Given the description of an element on the screen output the (x, y) to click on. 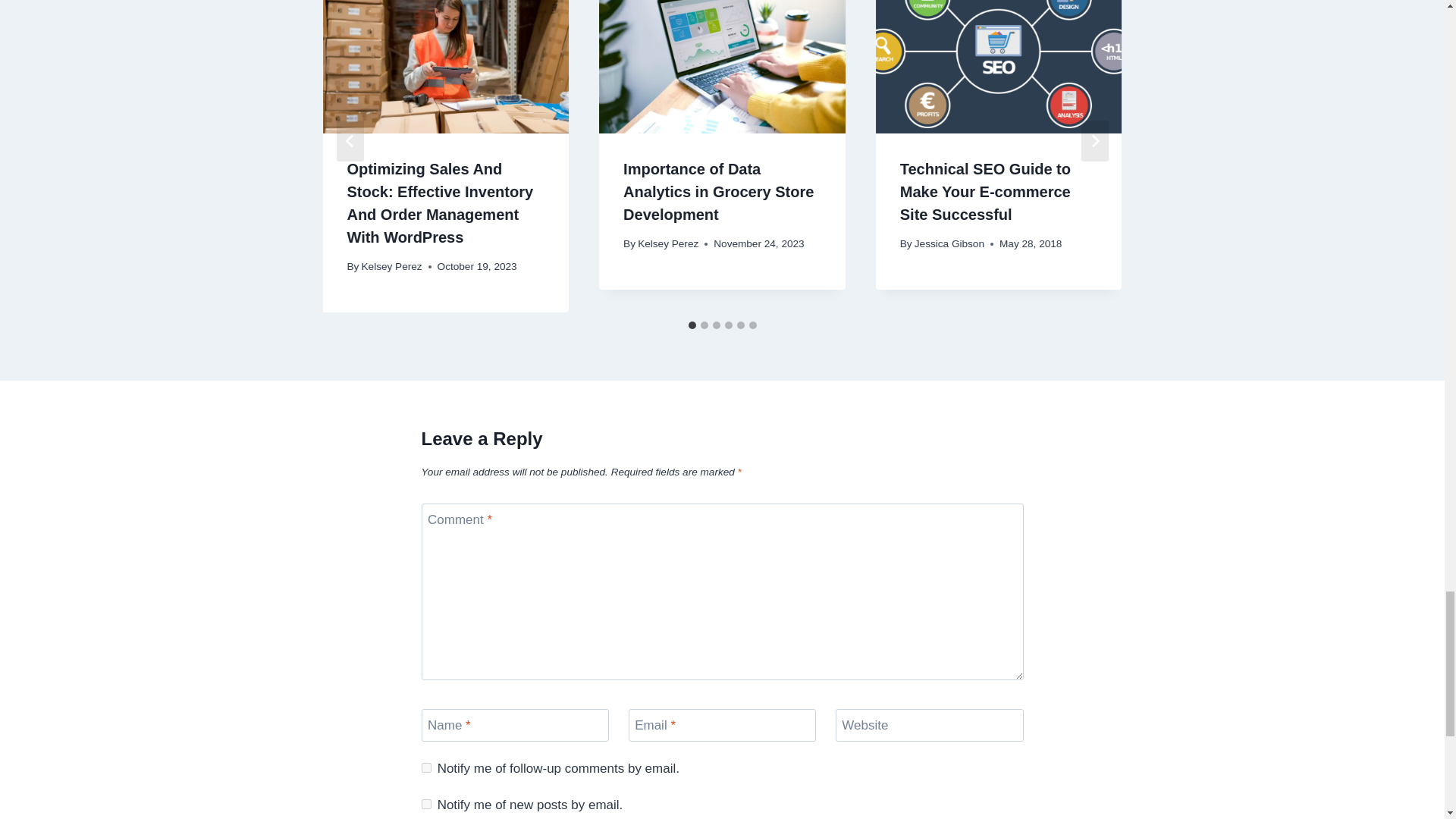
subscribe (426, 804)
subscribe (426, 767)
